Given the description of an element on the screen output the (x, y) to click on. 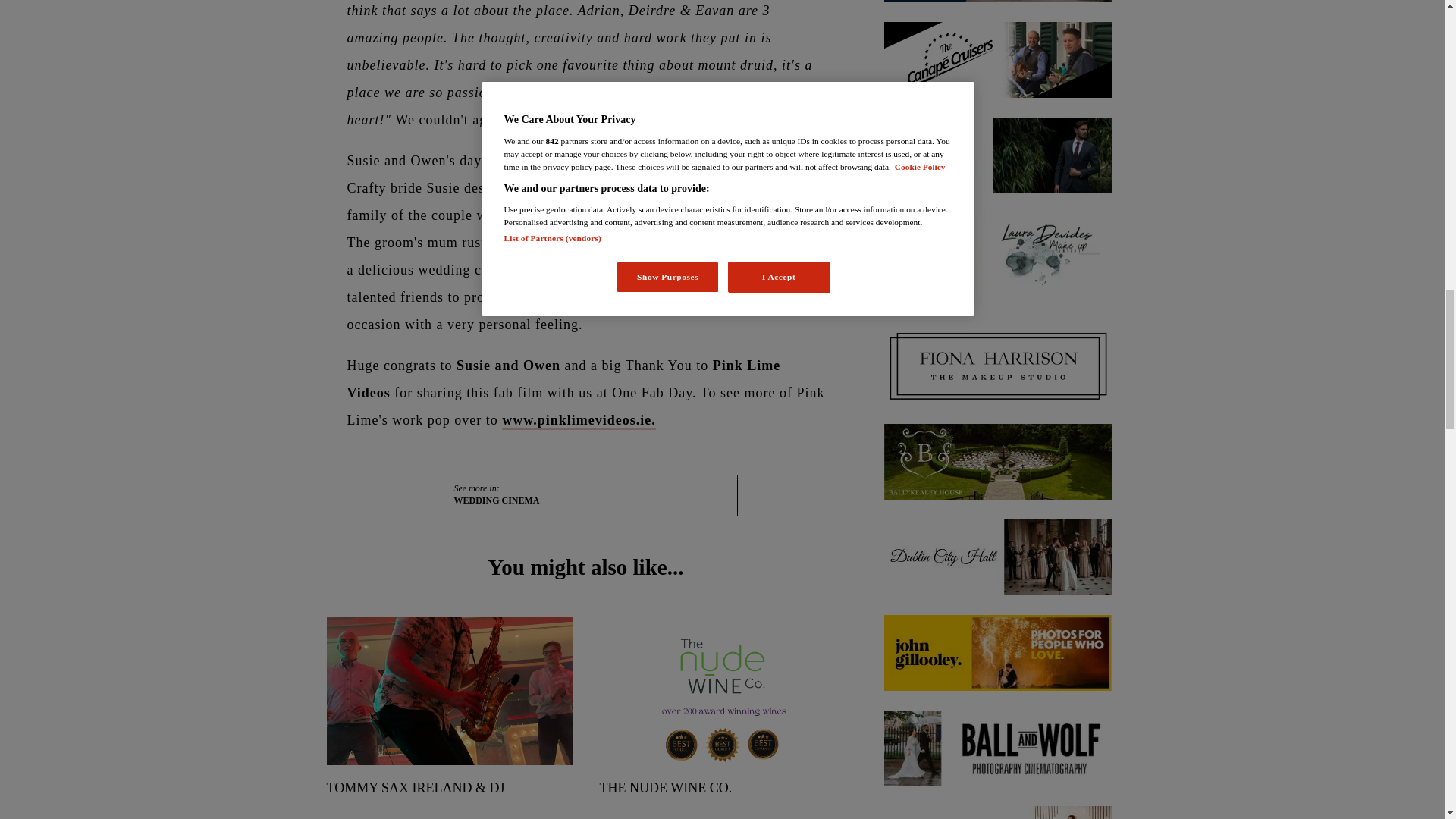
pink lime video (579, 420)
